Given the description of an element on the screen output the (x, y) to click on. 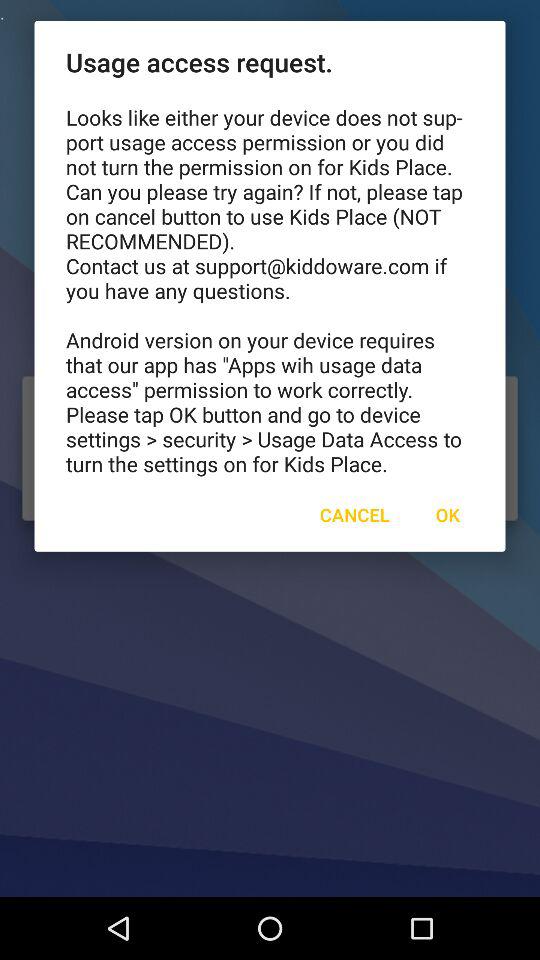
choose the cancel icon (354, 514)
